Given the description of an element on the screen output the (x, y) to click on. 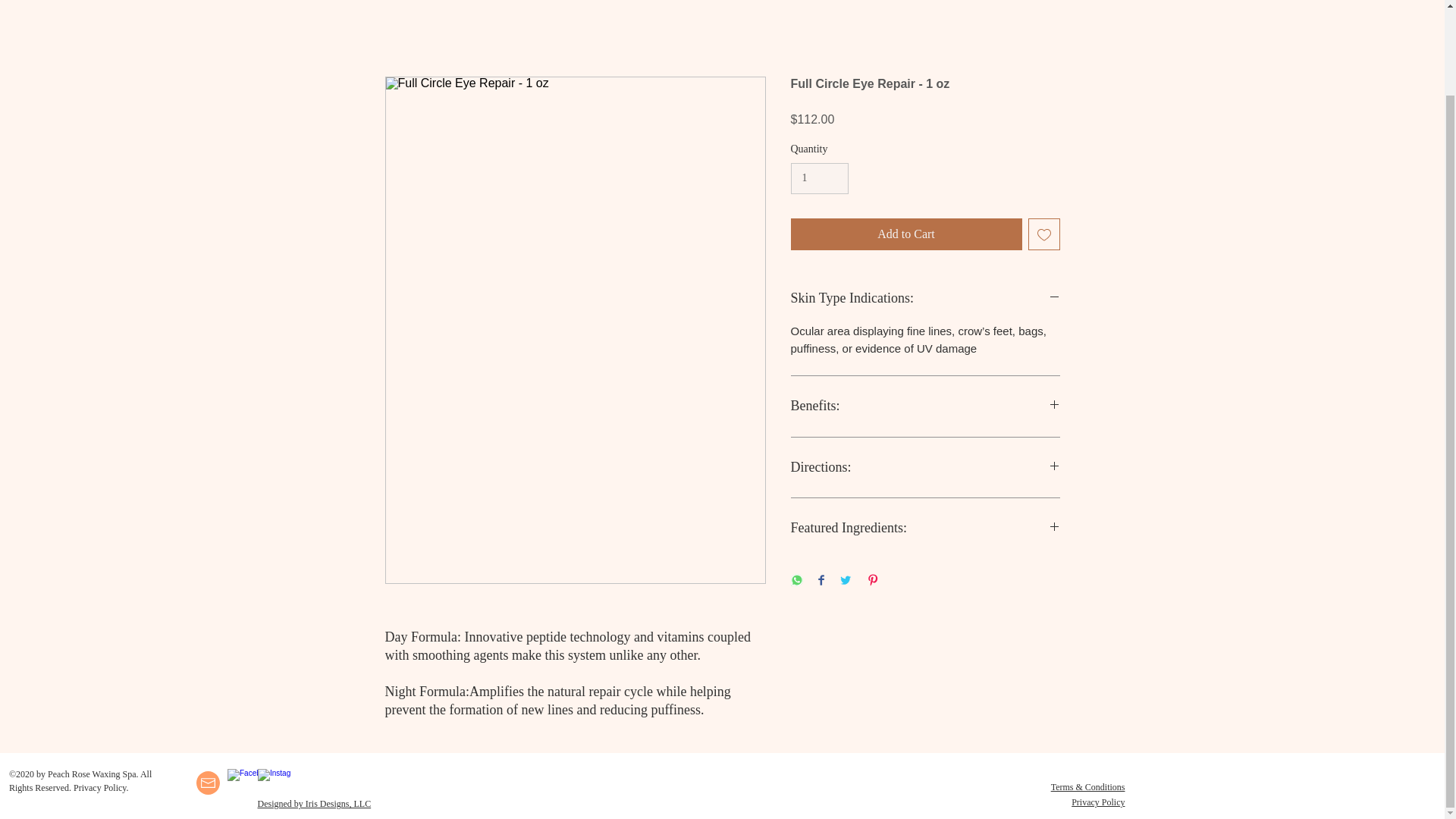
Directions: (924, 467)
1 (818, 178)
Skin Type Indications: (924, 298)
Featured Ingredients: (924, 528)
Add to Cart (906, 234)
Benefits: (924, 405)
